Given the description of an element on the screen output the (x, y) to click on. 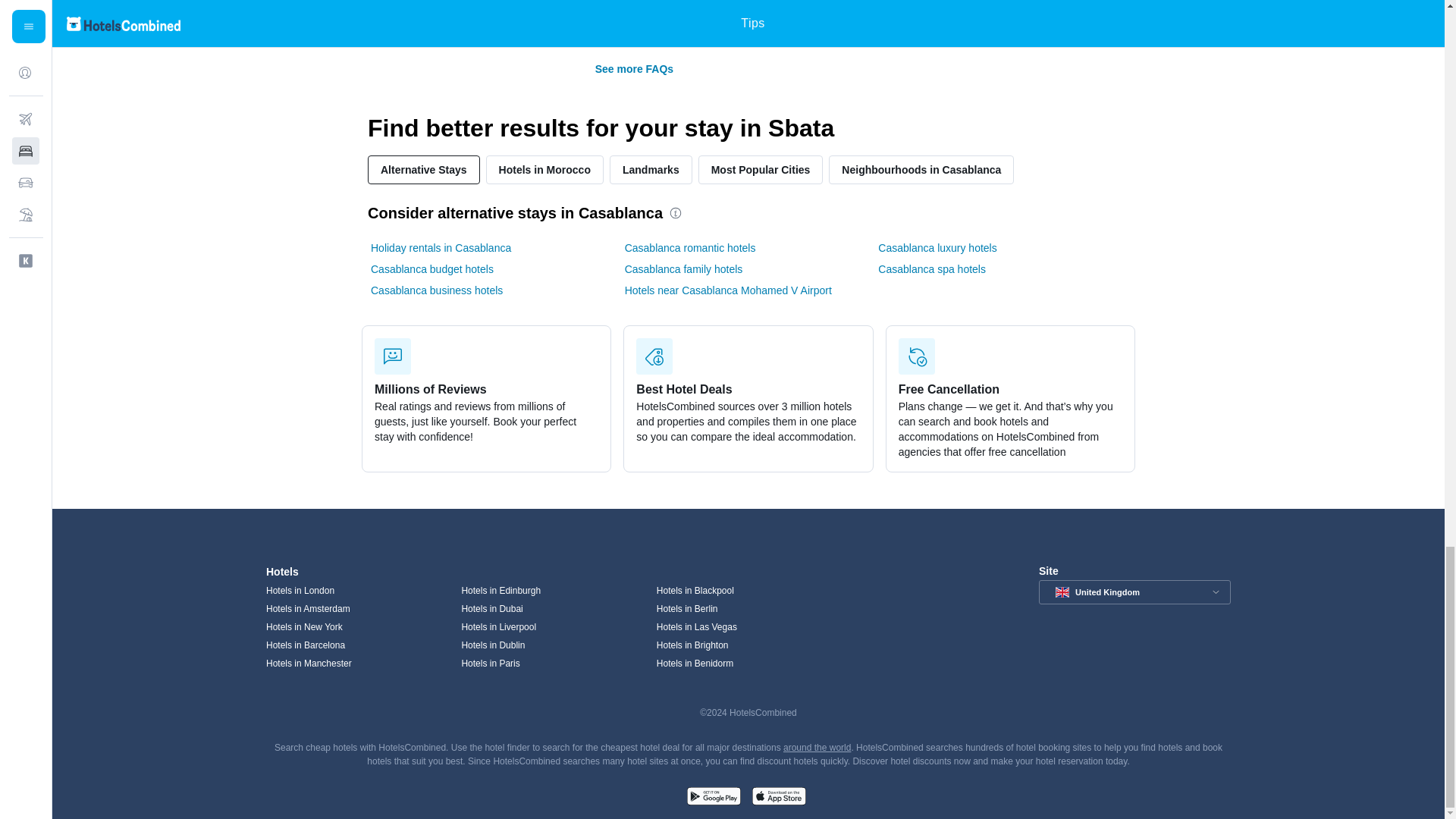
Landmarks (651, 169)
Casablanca spa hotels (931, 268)
Hotels in Morocco (545, 169)
Get it on Google Play (713, 797)
Casablanca business hotels (436, 290)
Alternative Stays (424, 169)
Casablanca family hotels (683, 268)
Download on the App Store (778, 797)
Hotels near Casablanca Mohamed V Airport (727, 290)
Casablanca budget hotels (432, 268)
Casablanca luxury hotels (936, 247)
Holiday rentals in Casablanca (441, 247)
Most Popular Cities (761, 169)
Neighbourhoods in Casablanca (920, 169)
Casablanca romantic hotels (689, 247)
